Given the description of an element on the screen output the (x, y) to click on. 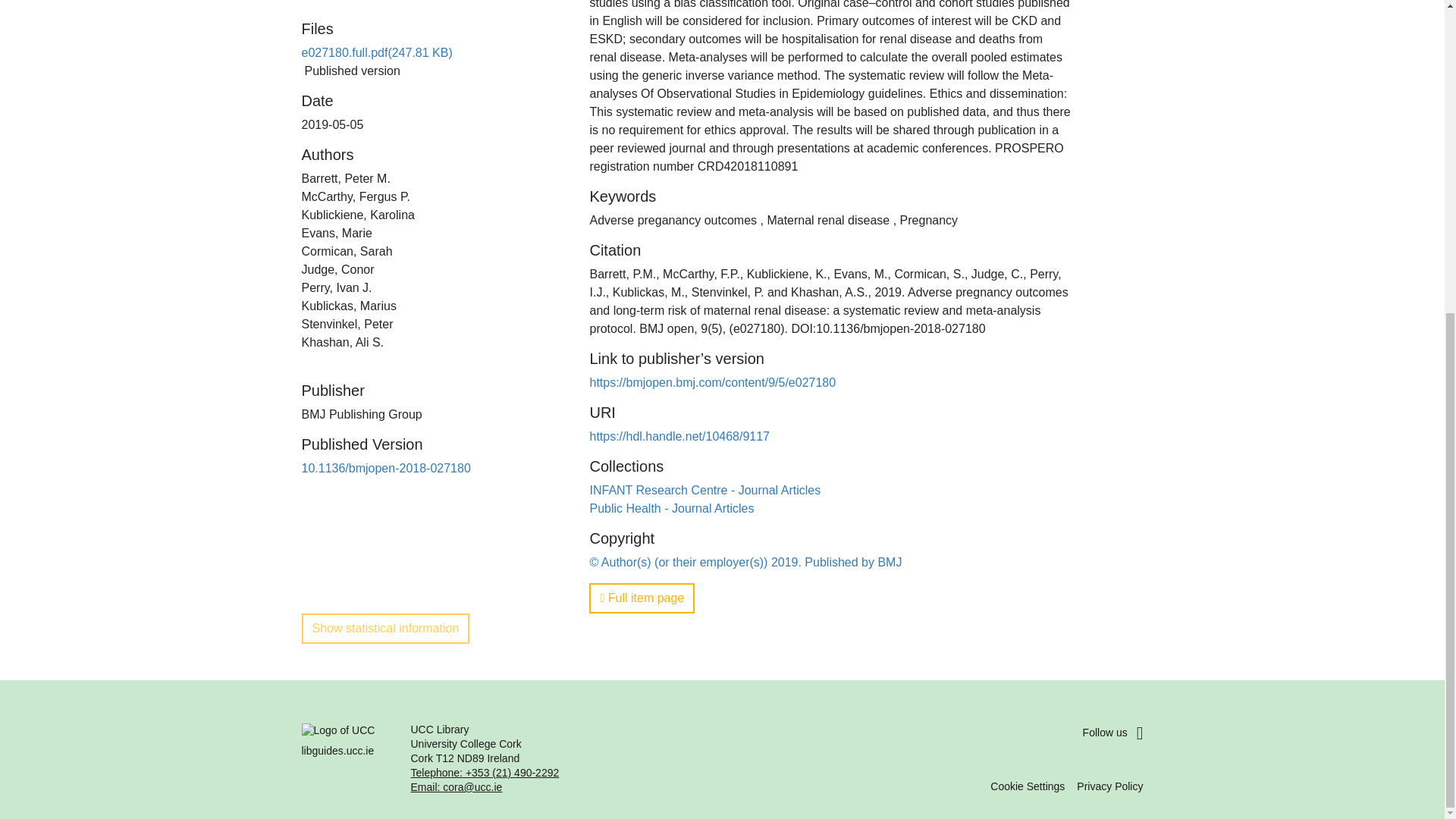
libguides.ucc.ie (347, 758)
INFANT Research Centre - Journal Articles (705, 490)
Full item page (641, 598)
Public Health - Journal Articles (671, 508)
Show statistical information (385, 628)
Cookie Settings (1027, 786)
Privacy Policy (1109, 786)
